Given the description of an element on the screen output the (x, y) to click on. 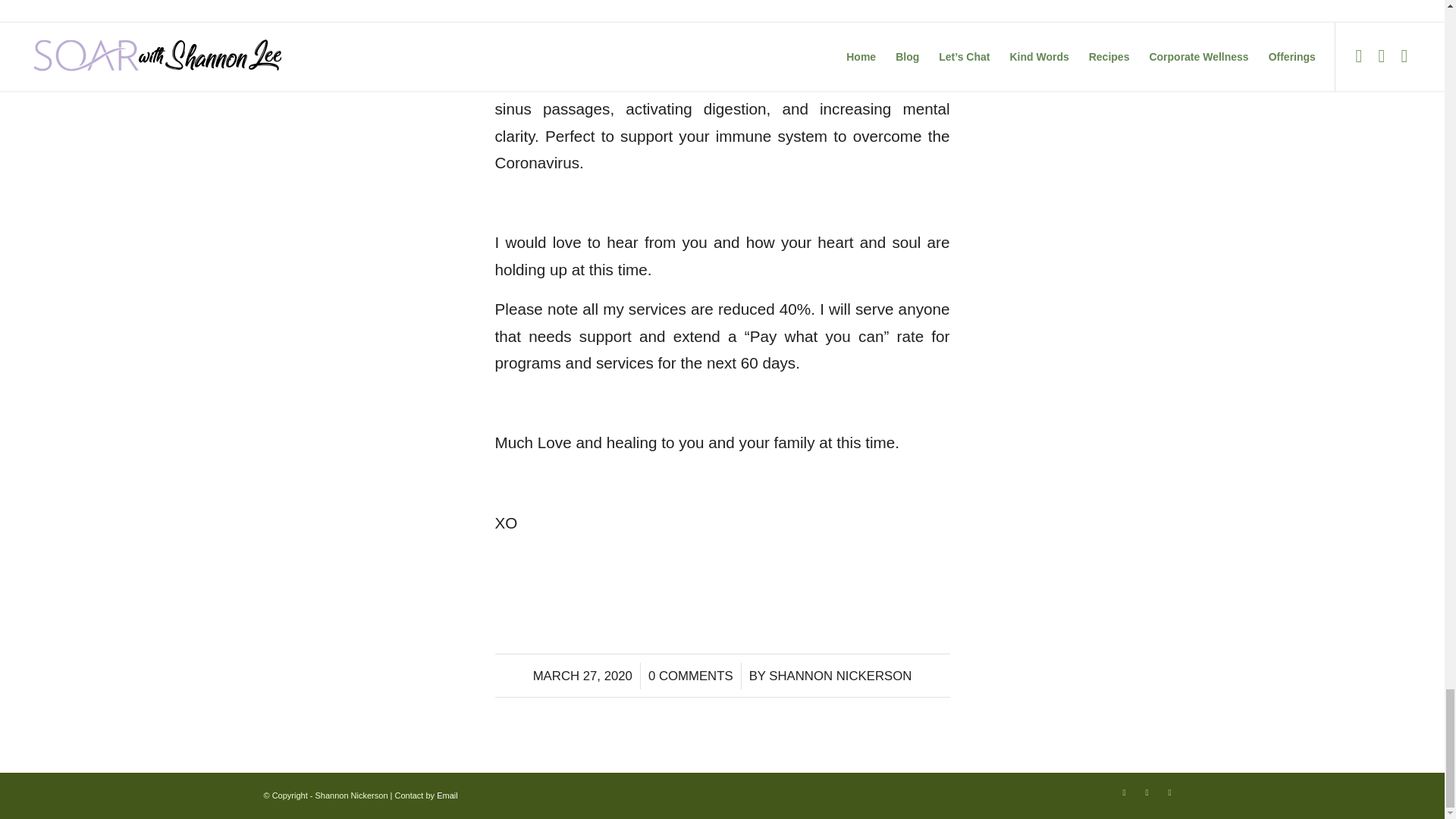
5-minute Ratna Prabha Mudra meditation (722, 68)
Posts by Shannon Nickerson (839, 676)
Instagram (1146, 792)
Mail (1169, 792)
0 COMMENTS (690, 676)
SHANNON NICKERSON (839, 676)
Email (447, 795)
Facebook (1124, 792)
